Given the description of an element on the screen output the (x, y) to click on. 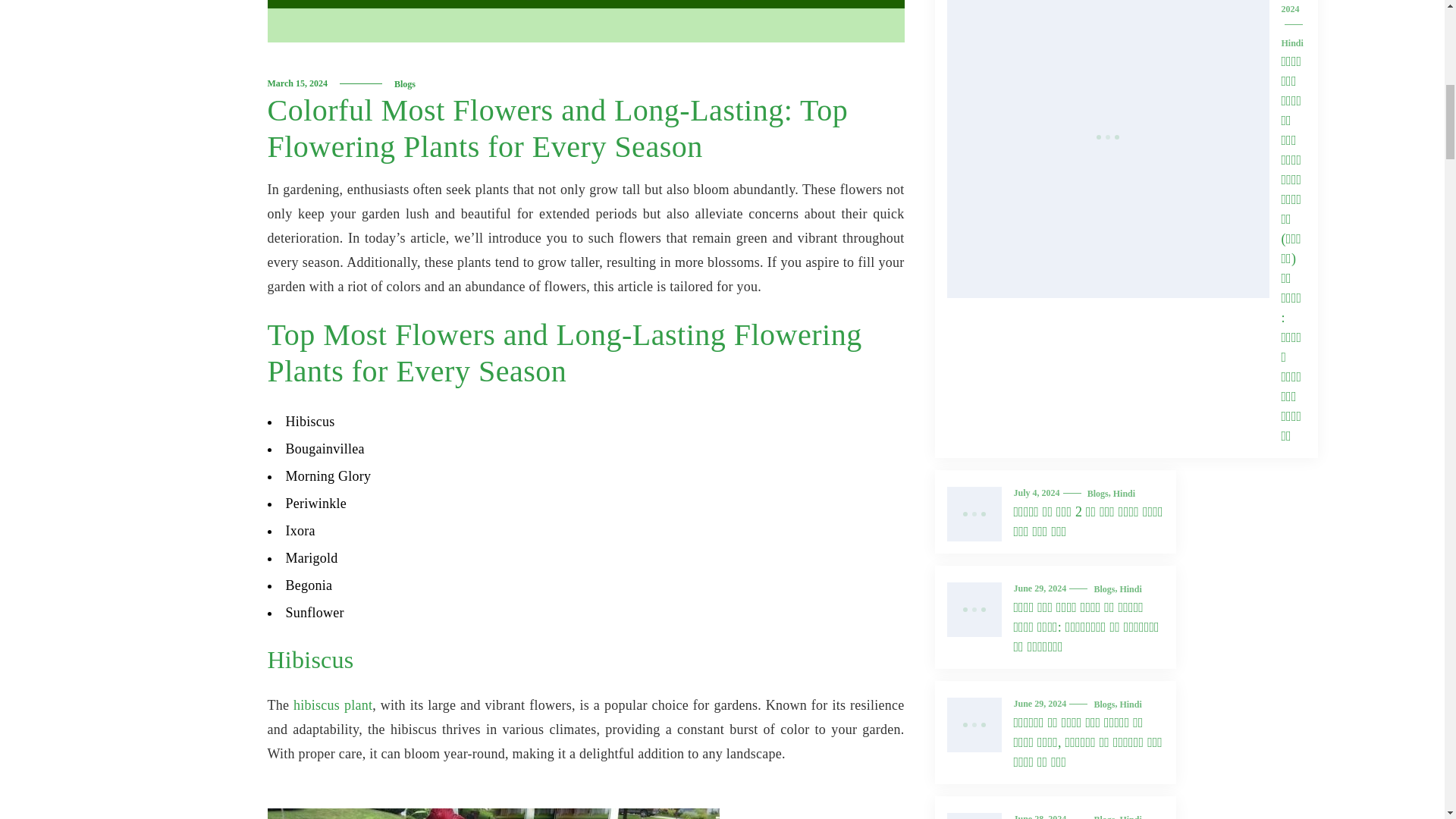
hibiscus plant (333, 704)
Blogs (404, 83)
